Given the description of an element on the screen output the (x, y) to click on. 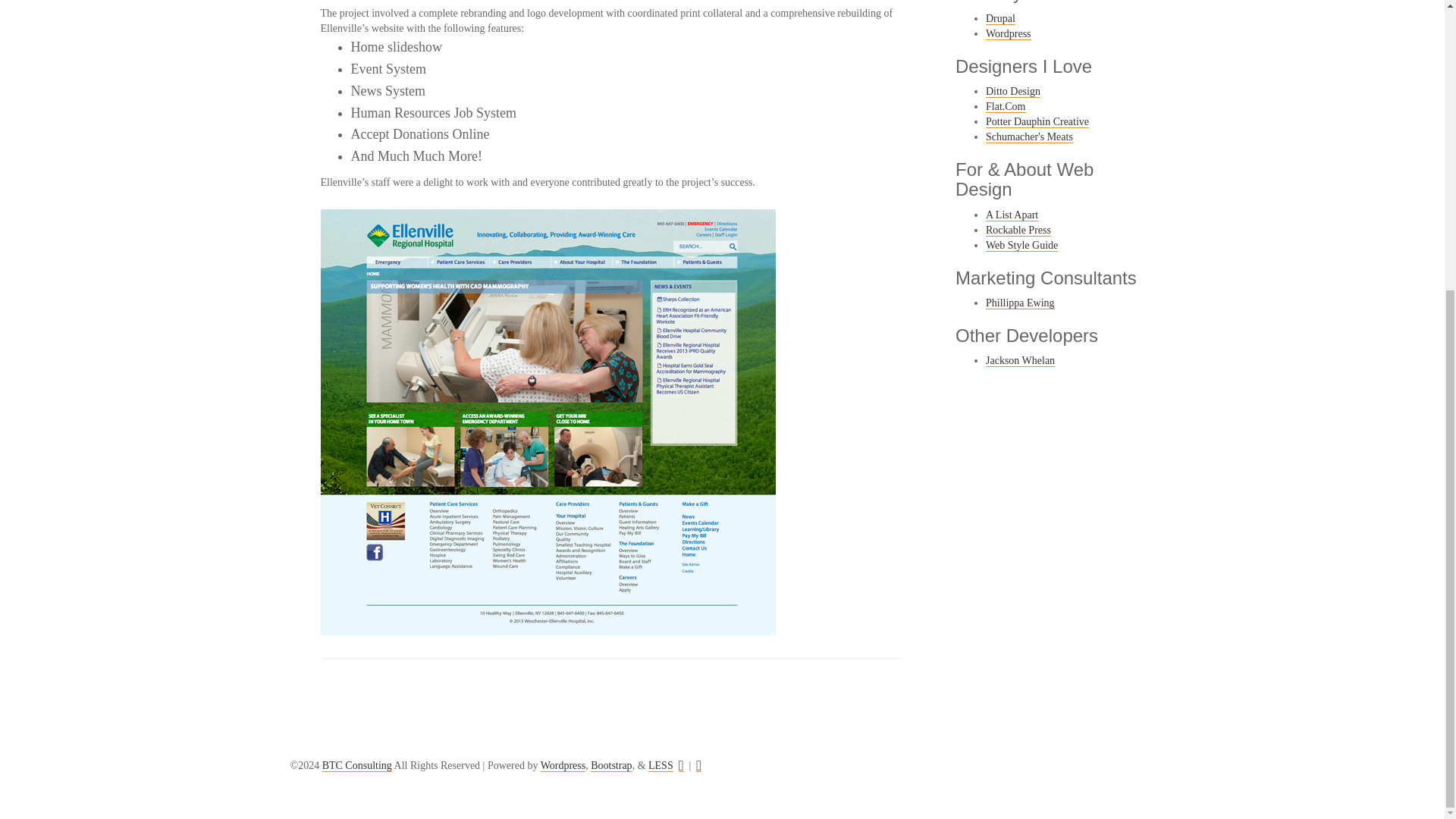
Drupal (999, 19)
Rockable Press (1018, 230)
BTC Consulting (356, 766)
A List Apart (1011, 215)
Wordpress (563, 766)
Flat.Com (1005, 106)
Bootstrap (611, 766)
Potter Dauphin Creative (1037, 121)
Jackson Whelan (1019, 360)
